Given the description of an element on the screen output the (x, y) to click on. 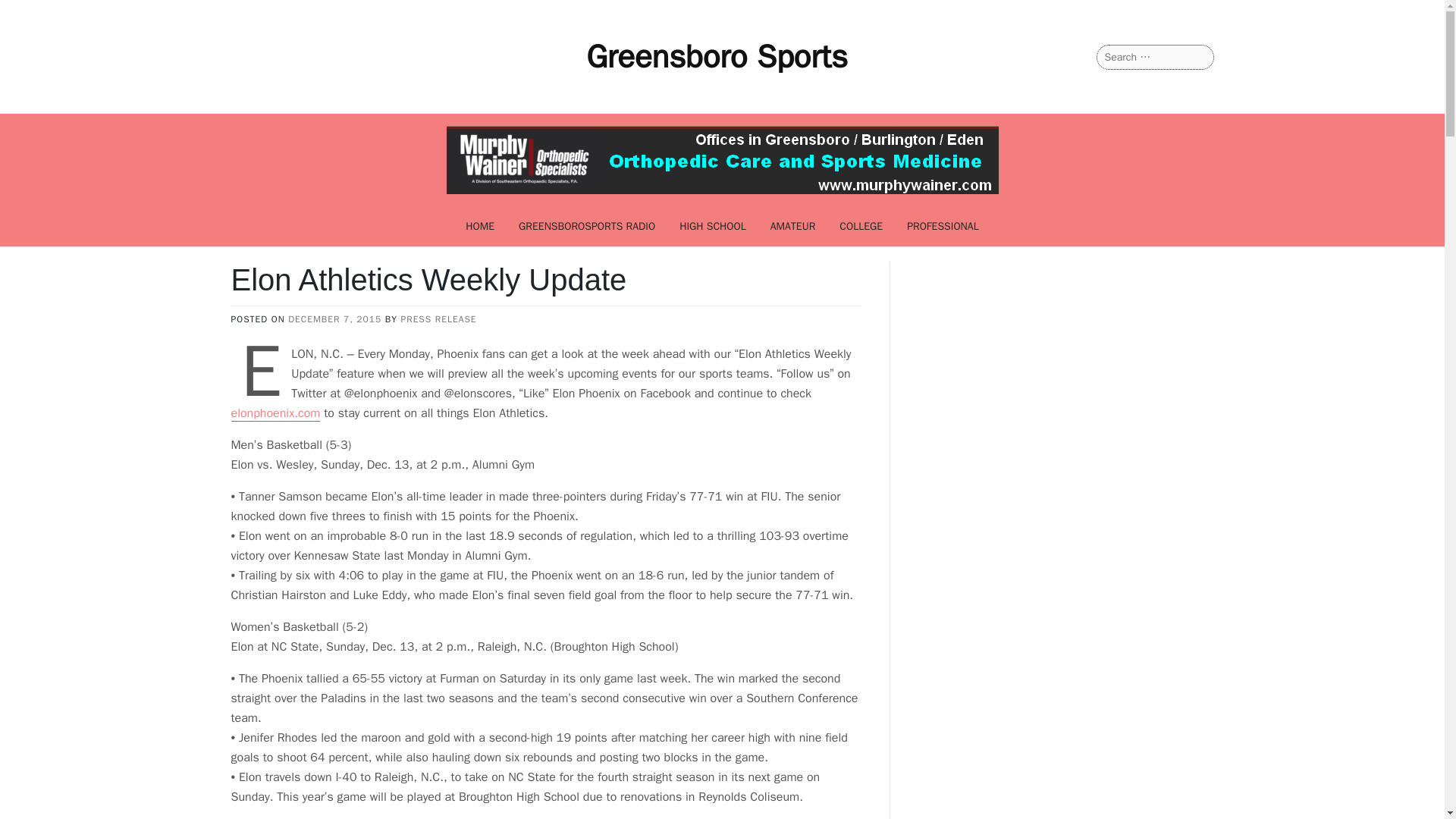
HOME (479, 226)
PROFESSIONAL (943, 226)
GREENSBOROSPORTS RADIO (586, 226)
elonphoenix.com (275, 413)
DECEMBER 7, 2015 (334, 318)
AMATEUR (793, 226)
Greensboro Sports (716, 56)
Search (31, 12)
COLLEGE (861, 226)
PRESS RELEASE (438, 318)
